Given the description of an element on the screen output the (x, y) to click on. 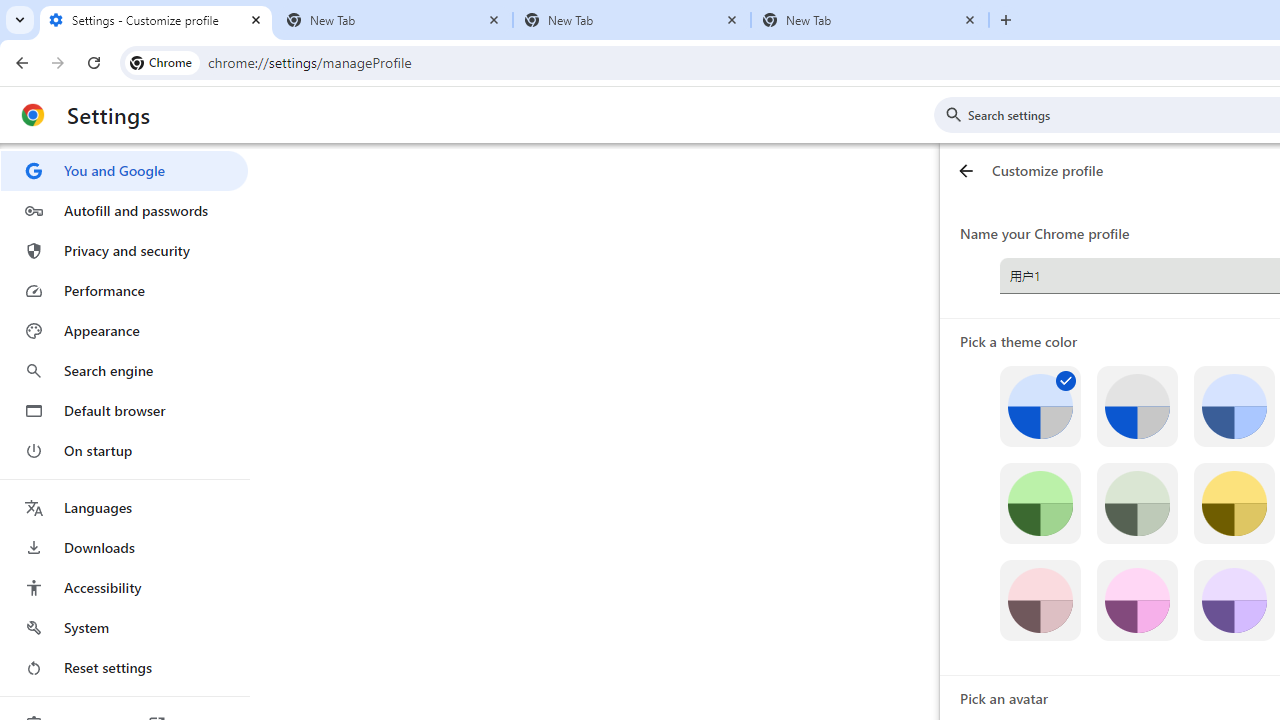
On startup (124, 450)
New Tab (870, 20)
Downloads (124, 547)
Privacy and security (124, 250)
Autofill and passwords (124, 210)
Accessibility (124, 587)
Search engine (124, 370)
